Given the description of an element on the screen output the (x, y) to click on. 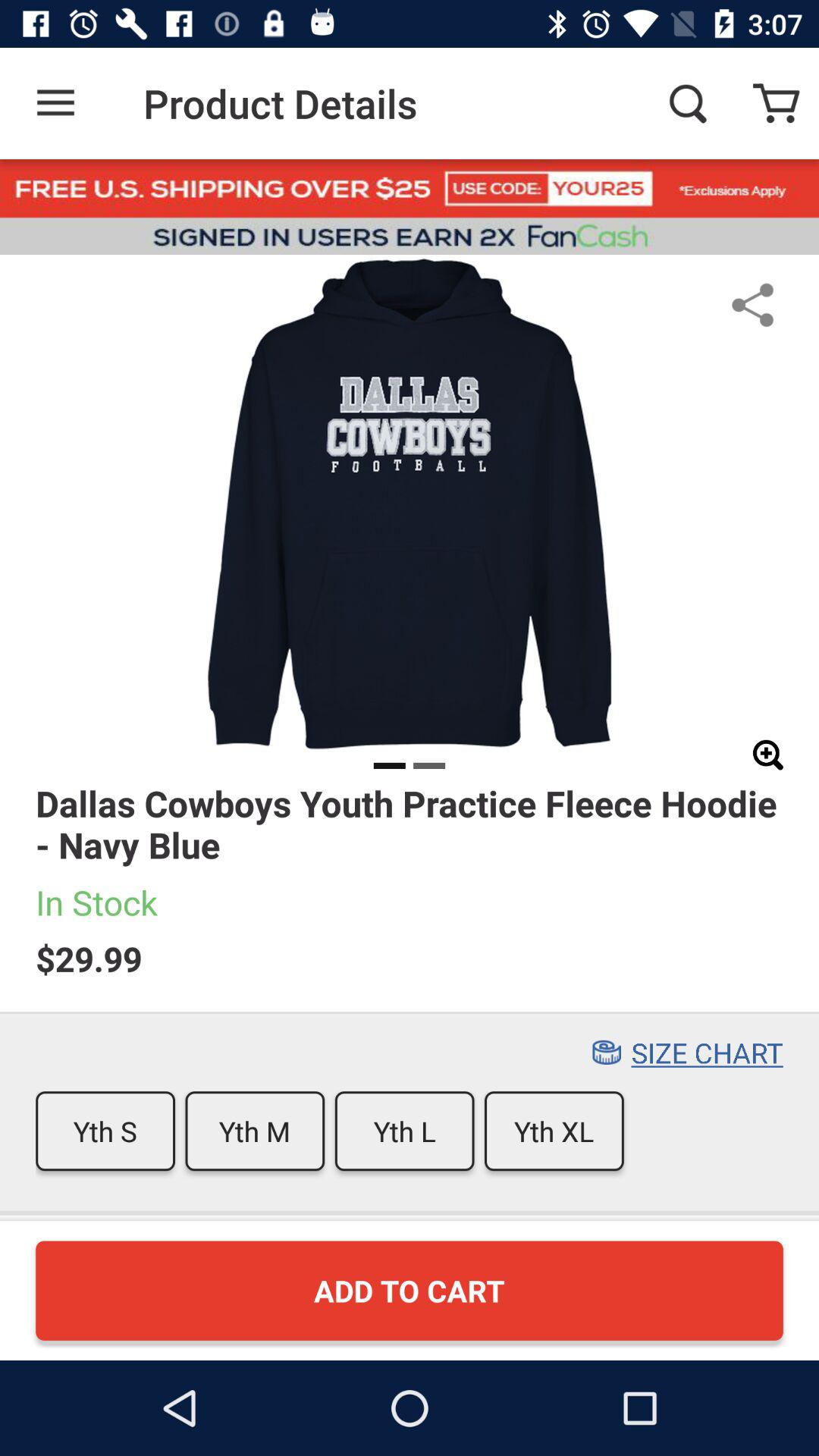
launch item next to yth xl item (404, 1131)
